Given the description of an element on the screen output the (x, y) to click on. 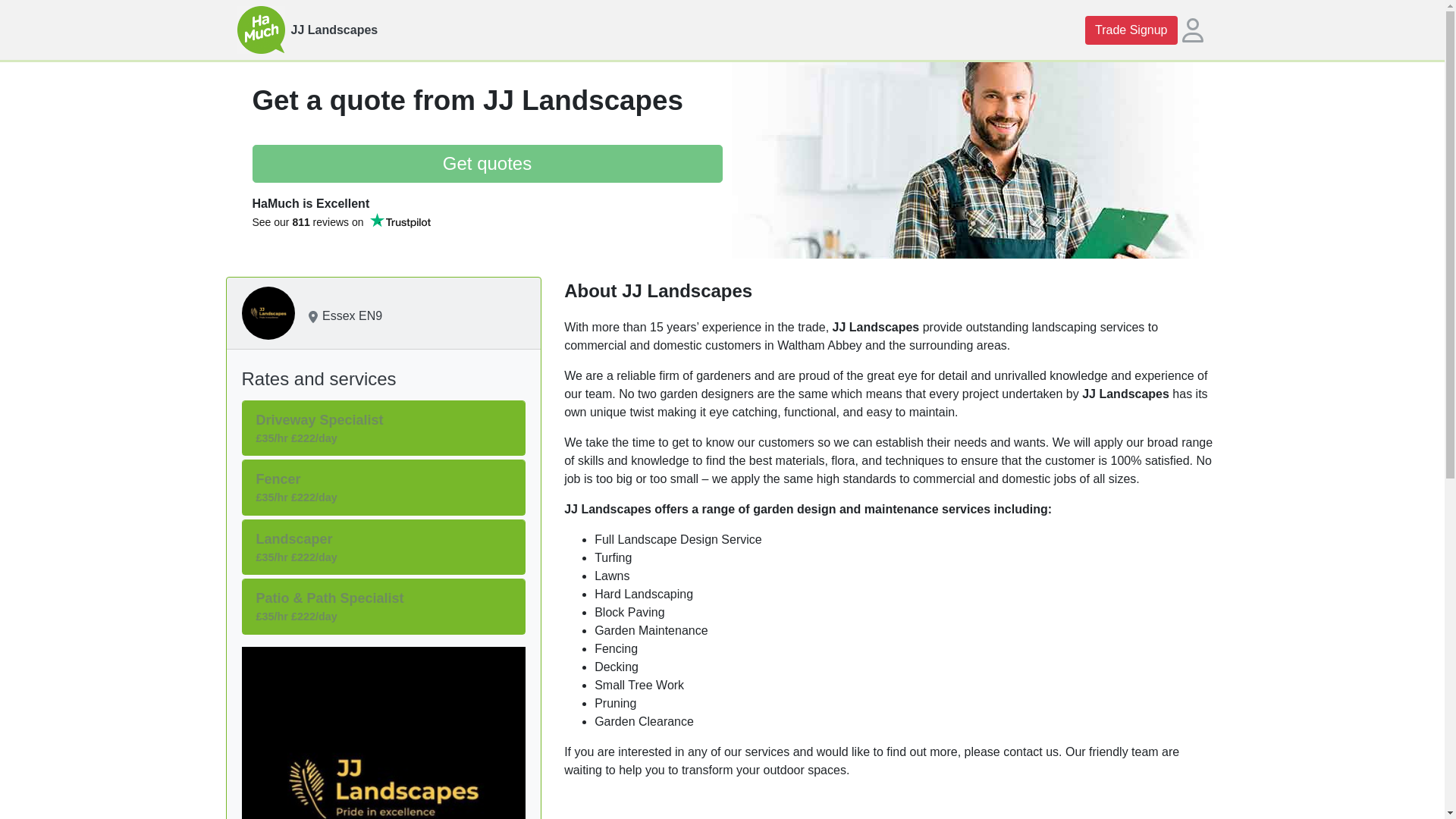
Get quotes (486, 163)
Customer reviews powered by Trustpilot (340, 235)
Company: Image 1 (383, 733)
Trade Signup (1130, 29)
